Given the description of an element on the screen output the (x, y) to click on. 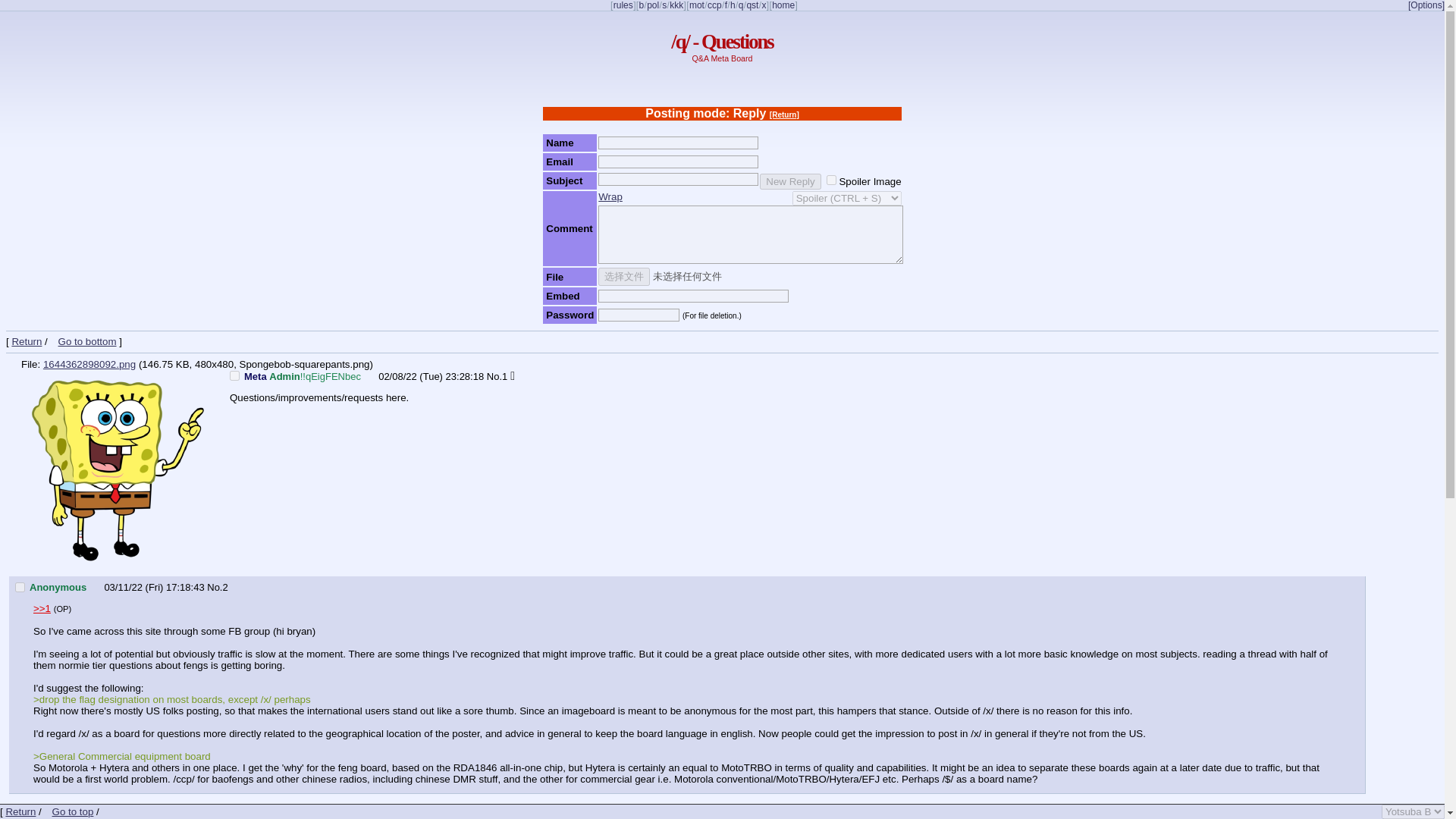
Wrap (610, 196)
on (831, 179)
Baofeng Bus (714, 5)
pol (652, 5)
Go to bottom (83, 341)
mot (696, 5)
New Reply (790, 180)
New Reply (790, 180)
Politics (652, 5)
United States (125, 816)
Netherlands (94, 586)
kkk (675, 5)
Return (26, 341)
ARRL (751, 5)
